Given the description of an element on the screen output the (x, y) to click on. 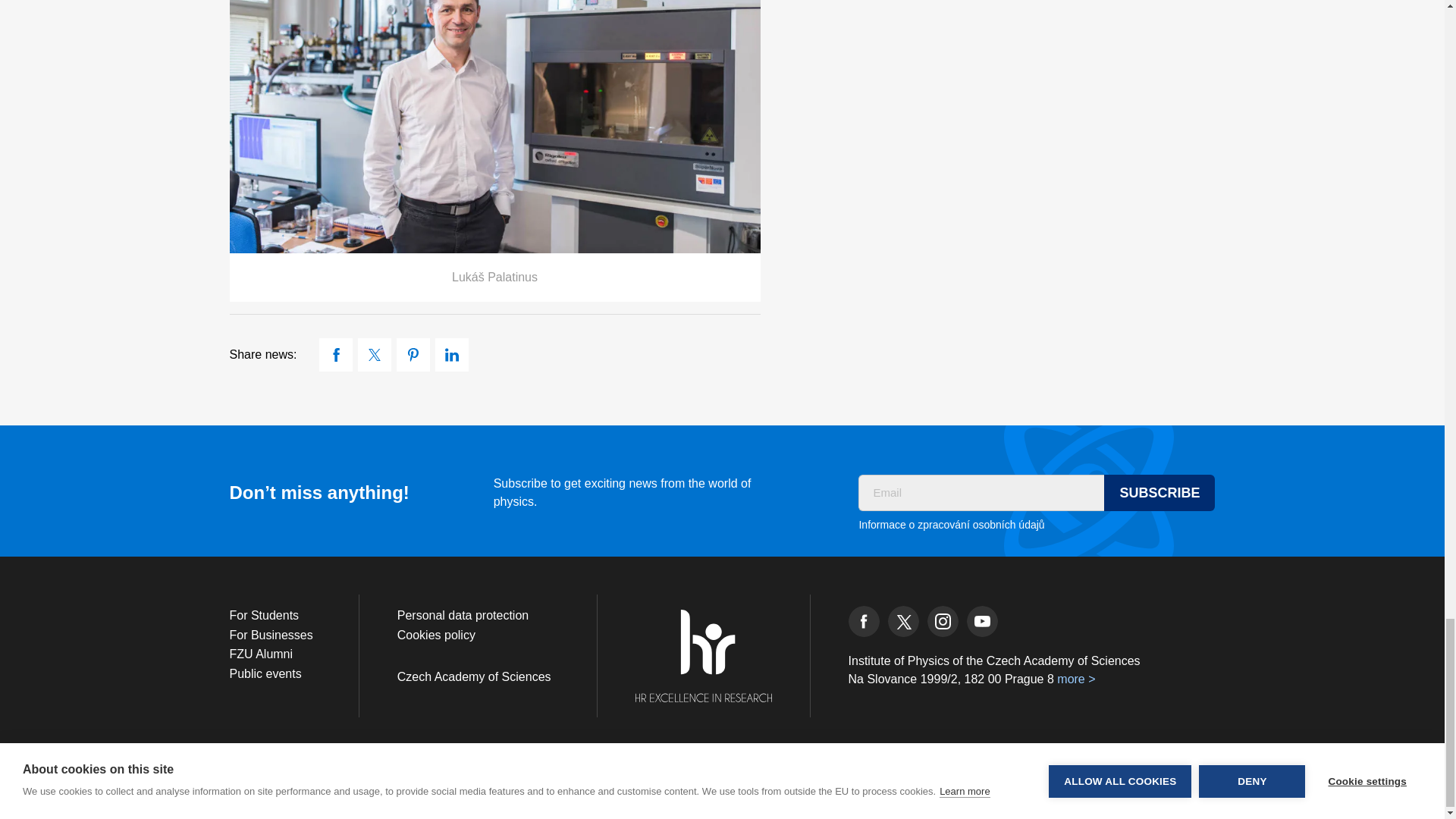
Subscribe (1158, 493)
